Given the description of an element on the screen output the (x, y) to click on. 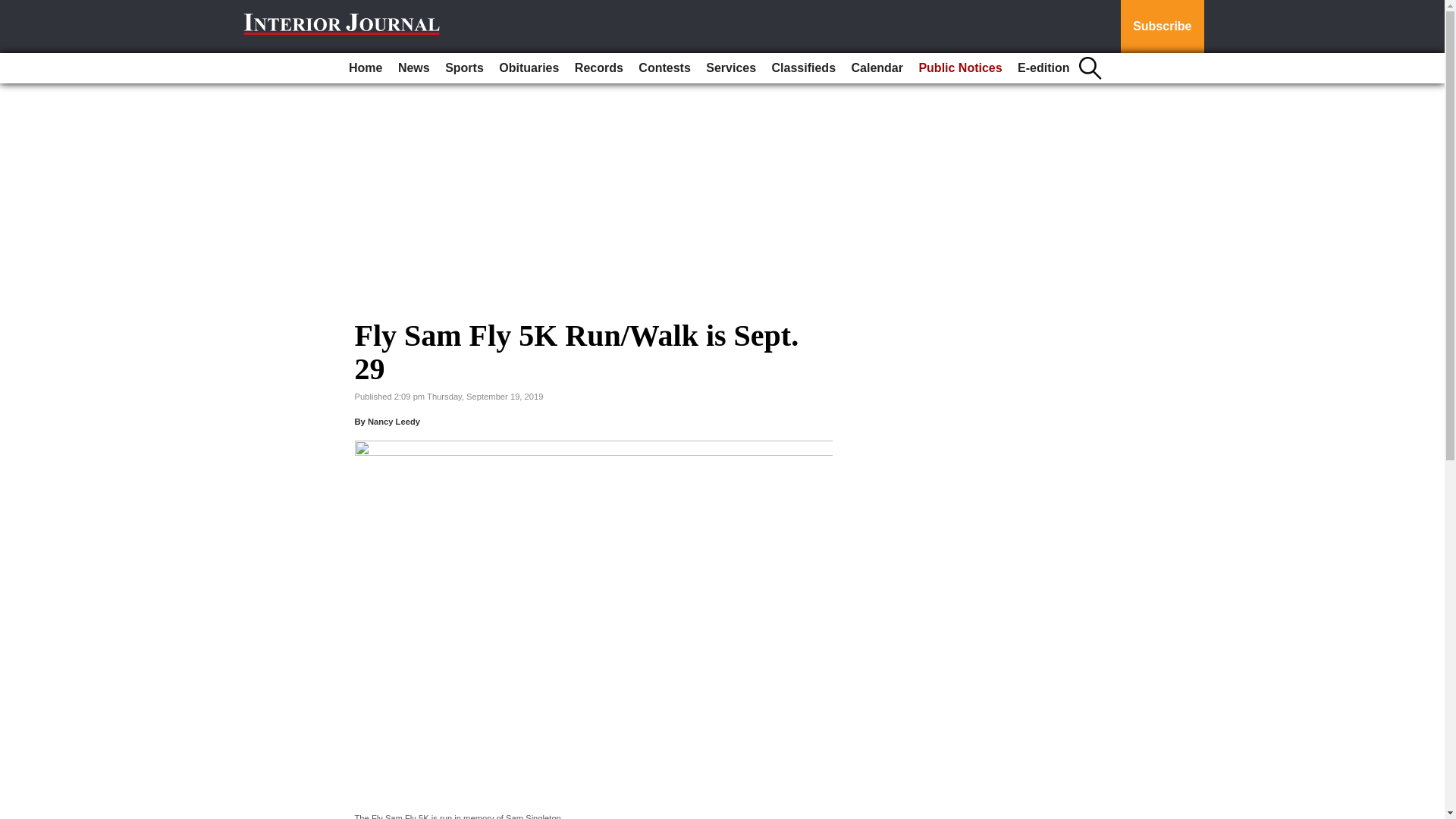
Public Notices (959, 68)
E-edition (1043, 68)
Classifieds (803, 68)
Records (598, 68)
Home (365, 68)
Sports (464, 68)
Subscribe (1162, 26)
News (413, 68)
Contests (663, 68)
Nancy Leedy (394, 420)
